Given the description of an element on the screen output the (x, y) to click on. 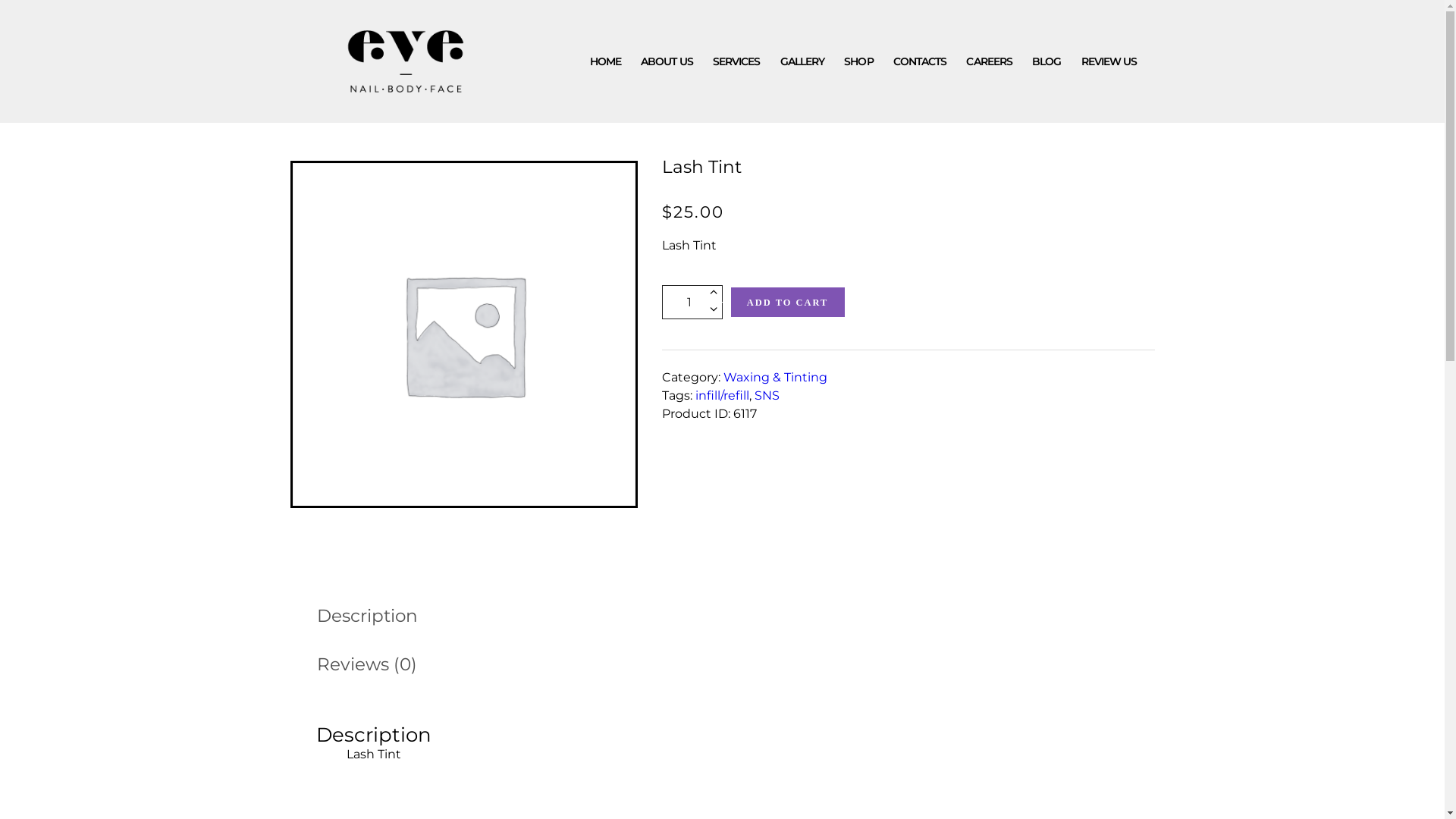
infill/refill Element type: text (722, 395)
BLOG Element type: text (1046, 61)
CAREERS Element type: text (989, 61)
Waxing & Tinting Element type: text (775, 377)
SNS Element type: text (766, 395)
GALLERY Element type: text (802, 61)
Reviews (0) Element type: text (366, 664)
CONTACTS Element type: text (920, 61)
ADD TO CART Element type: text (787, 302)
SHOP Element type: text (858, 61)
Description Element type: text (366, 615)
ABOUT US Element type: text (666, 61)
HOME Element type: text (605, 61)
REVIEW US Element type: text (1109, 61)
SERVICES Element type: text (736, 61)
